Given the description of an element on the screen output the (x, y) to click on. 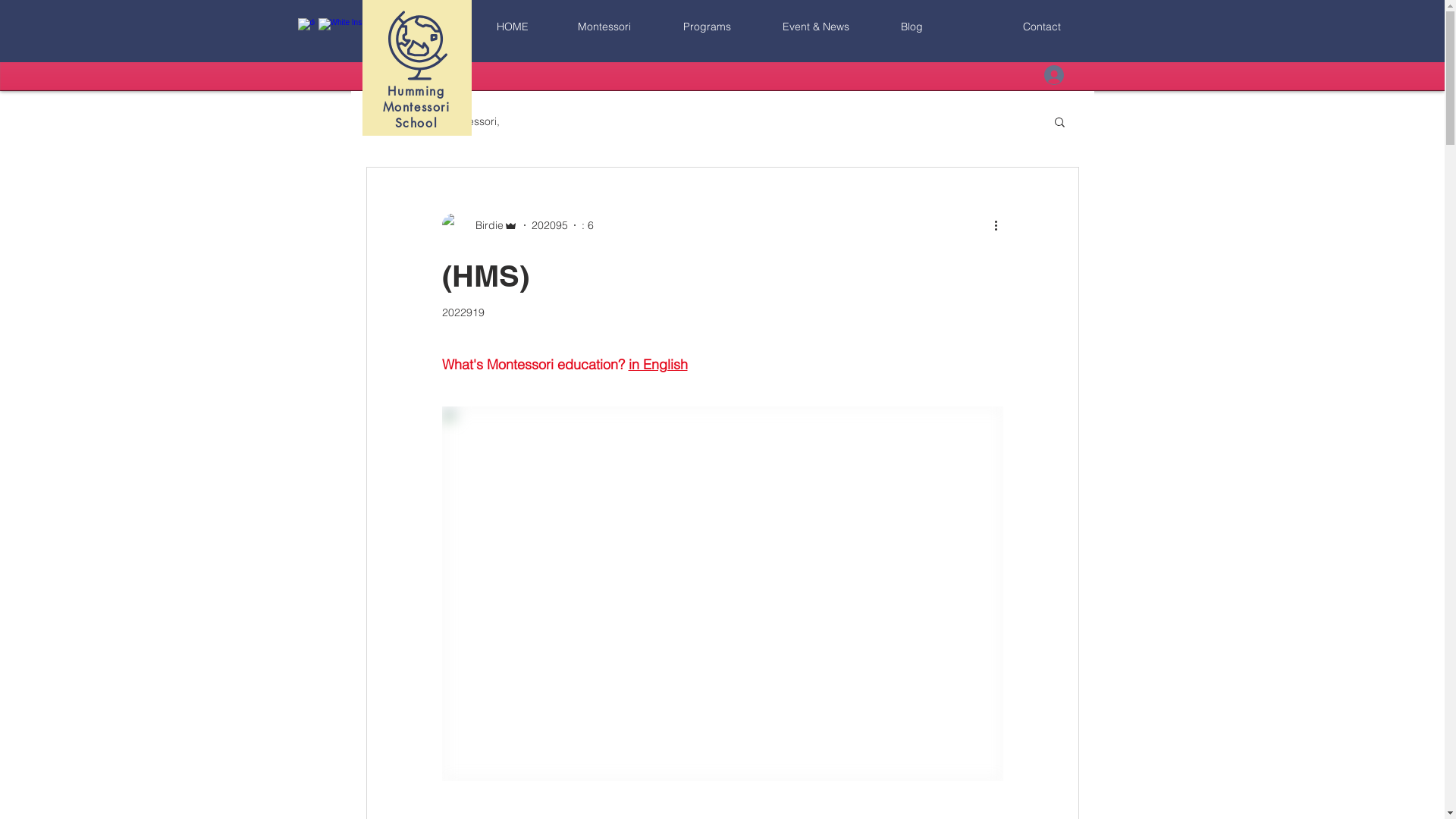
in English Element type: text (657, 364)
School Element type: text (416, 123)
HOME Element type: text (511, 26)
All Posts Element type: text (385, 121)
Humming Montessori Element type: text (415, 99)
